Given the description of an element on the screen output the (x, y) to click on. 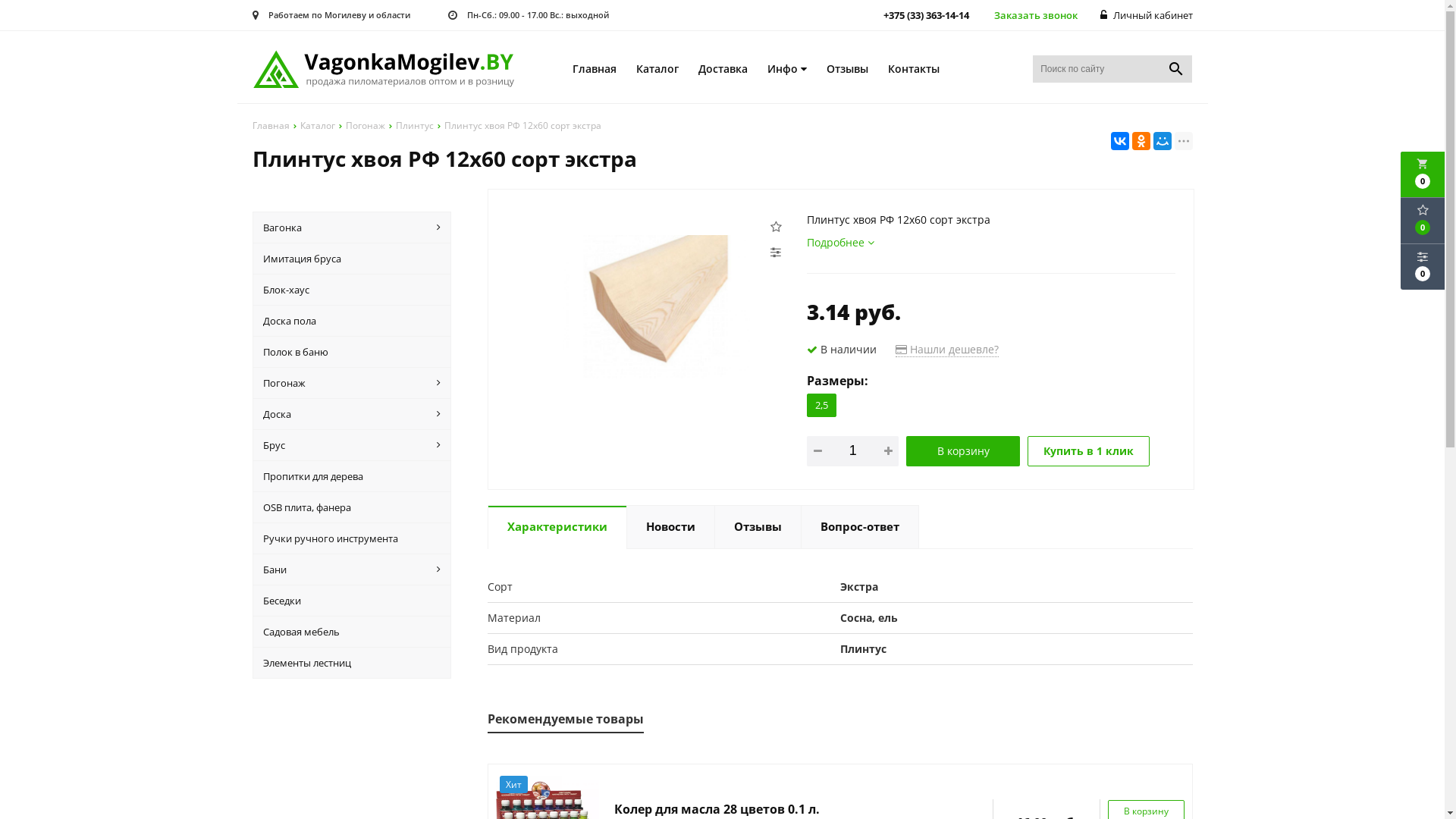
local_grocery_store
0 Element type: text (1422, 174)
+375 (33) 363-14-14 Element type: text (925, 15)
0 Element type: text (1422, 266)
0 Element type: text (1422, 220)
search Element type: text (1176, 68)
